Given the description of an element on the screen output the (x, y) to click on. 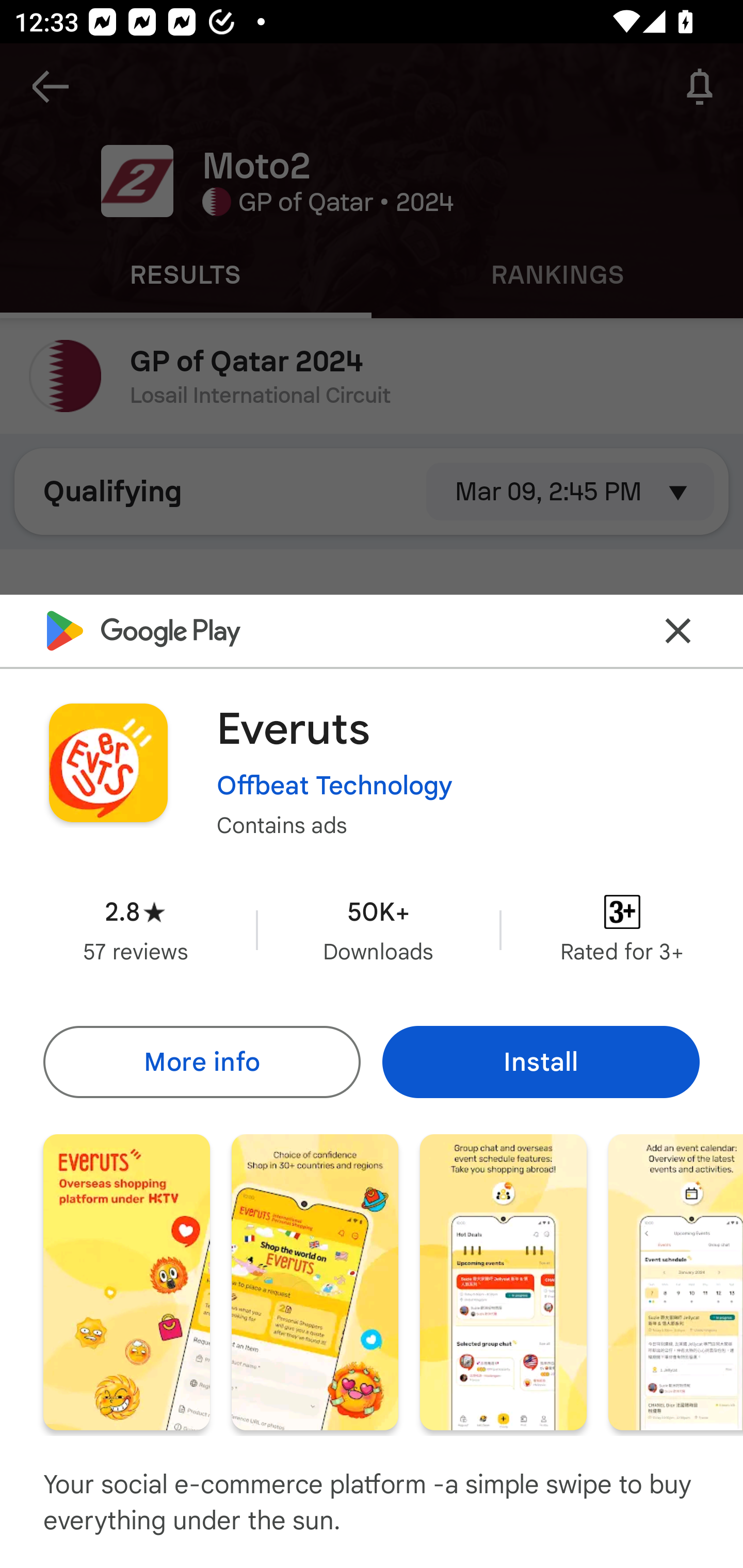
Close (677, 630)
Image of app or game icon for Everuts (108, 762)
Offbeat Technology (334, 784)
More info (201, 1061)
Install (540, 1061)
Screenshot "1" of "7" (126, 1281)
Screenshot "2" of "7" (314, 1281)
Screenshot "3" of "7" (502, 1281)
Screenshot "4" of "7" (675, 1281)
